Given the description of an element on the screen output the (x, y) to click on. 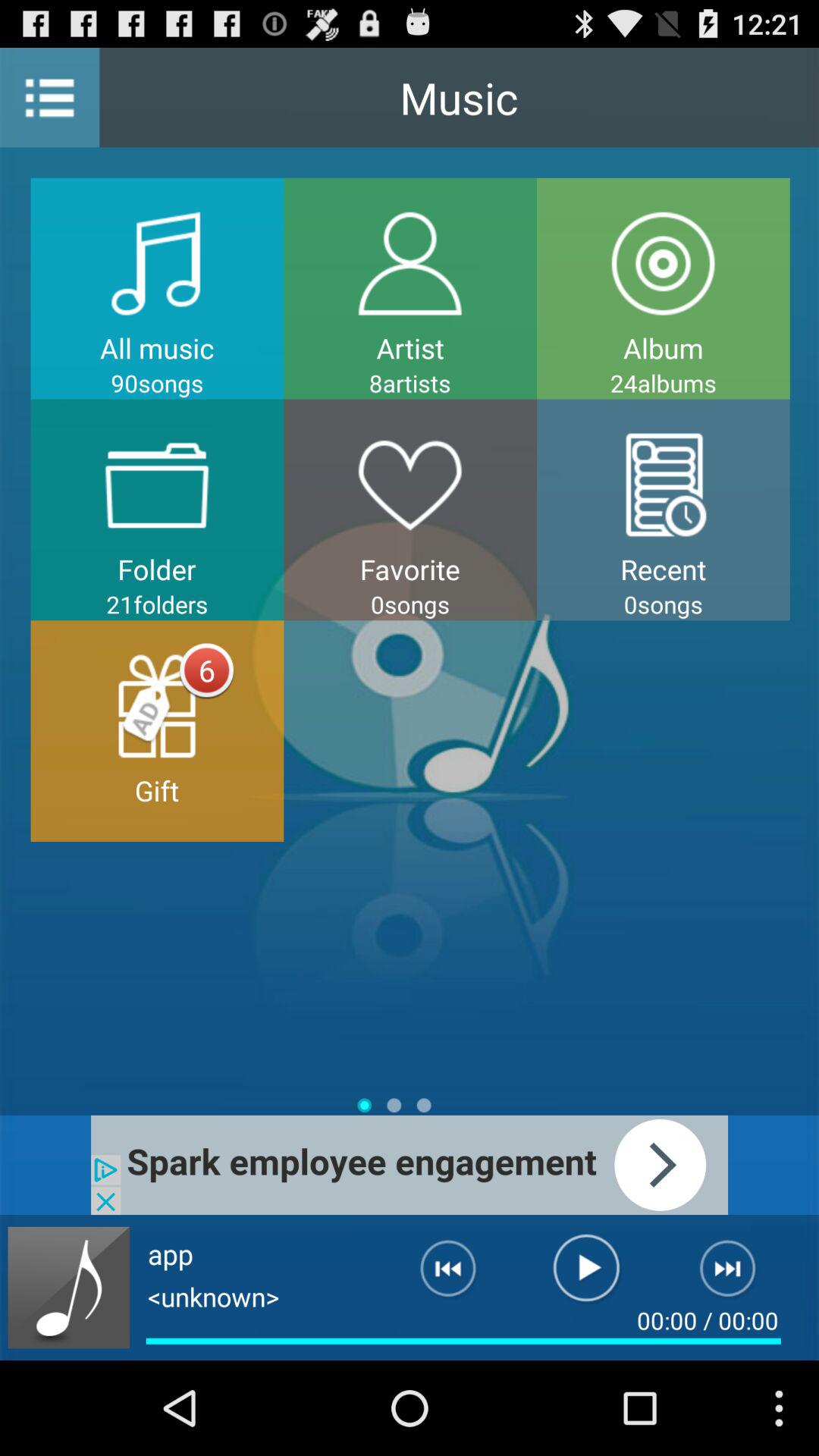
choose song (68, 1287)
